Given the description of an element on the screen output the (x, y) to click on. 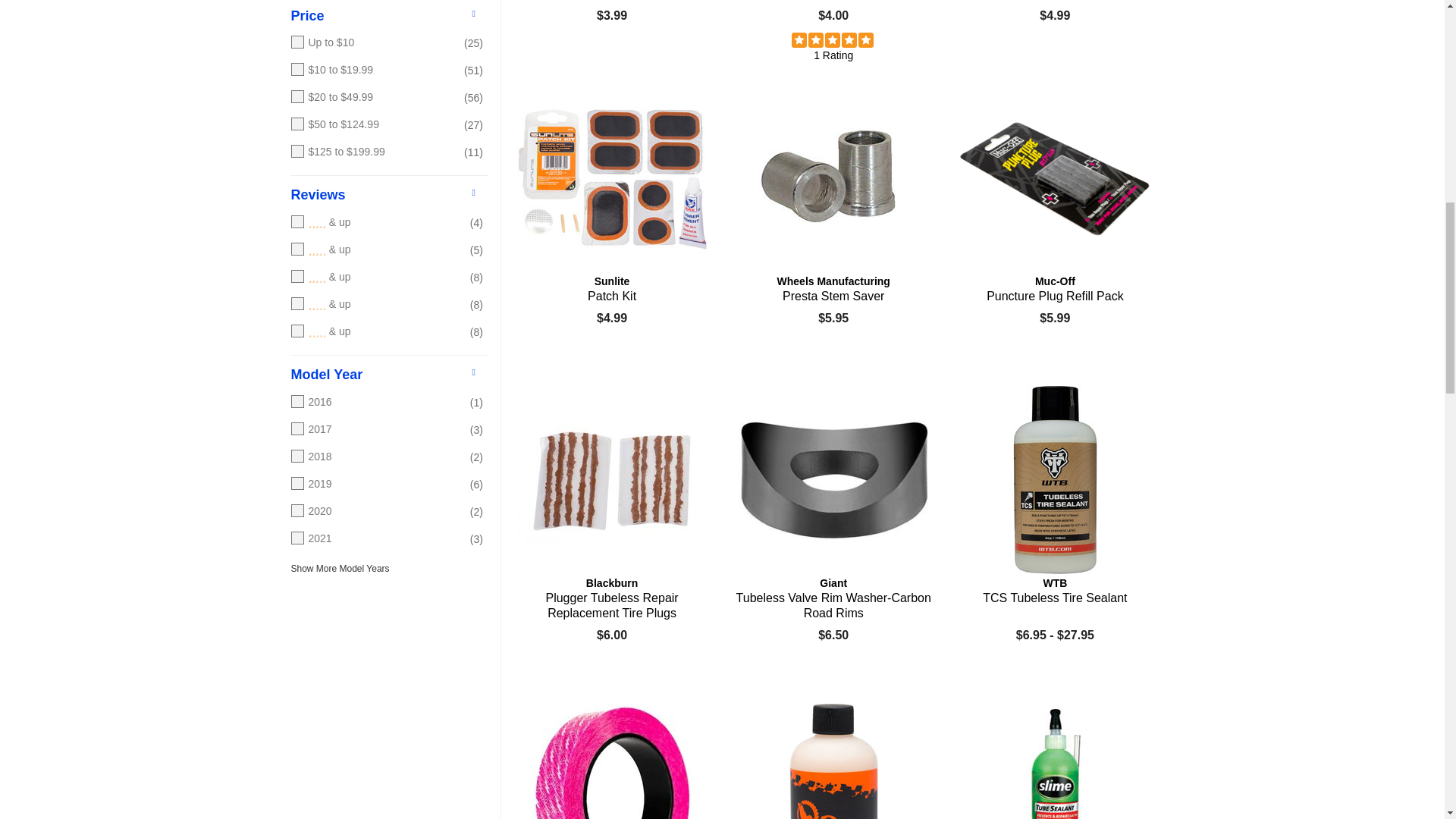
2 (374, 304)
4 (374, 249)
5 (374, 222)
1 (374, 331)
3 (374, 277)
